Given the description of an element on the screen output the (x, y) to click on. 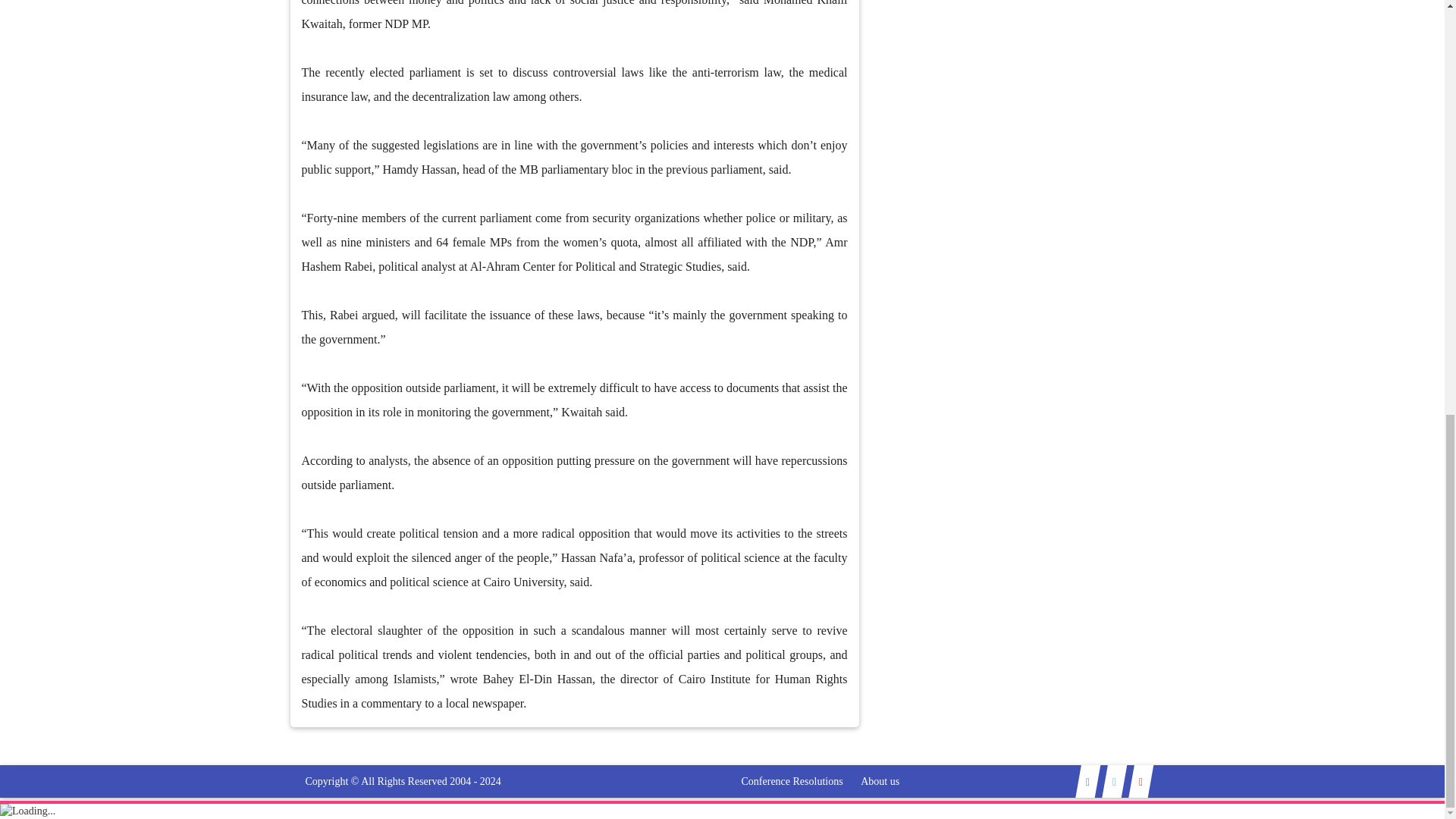
Conference Resolutions (792, 781)
About us (879, 781)
